Given the description of an element on the screen output the (x, y) to click on. 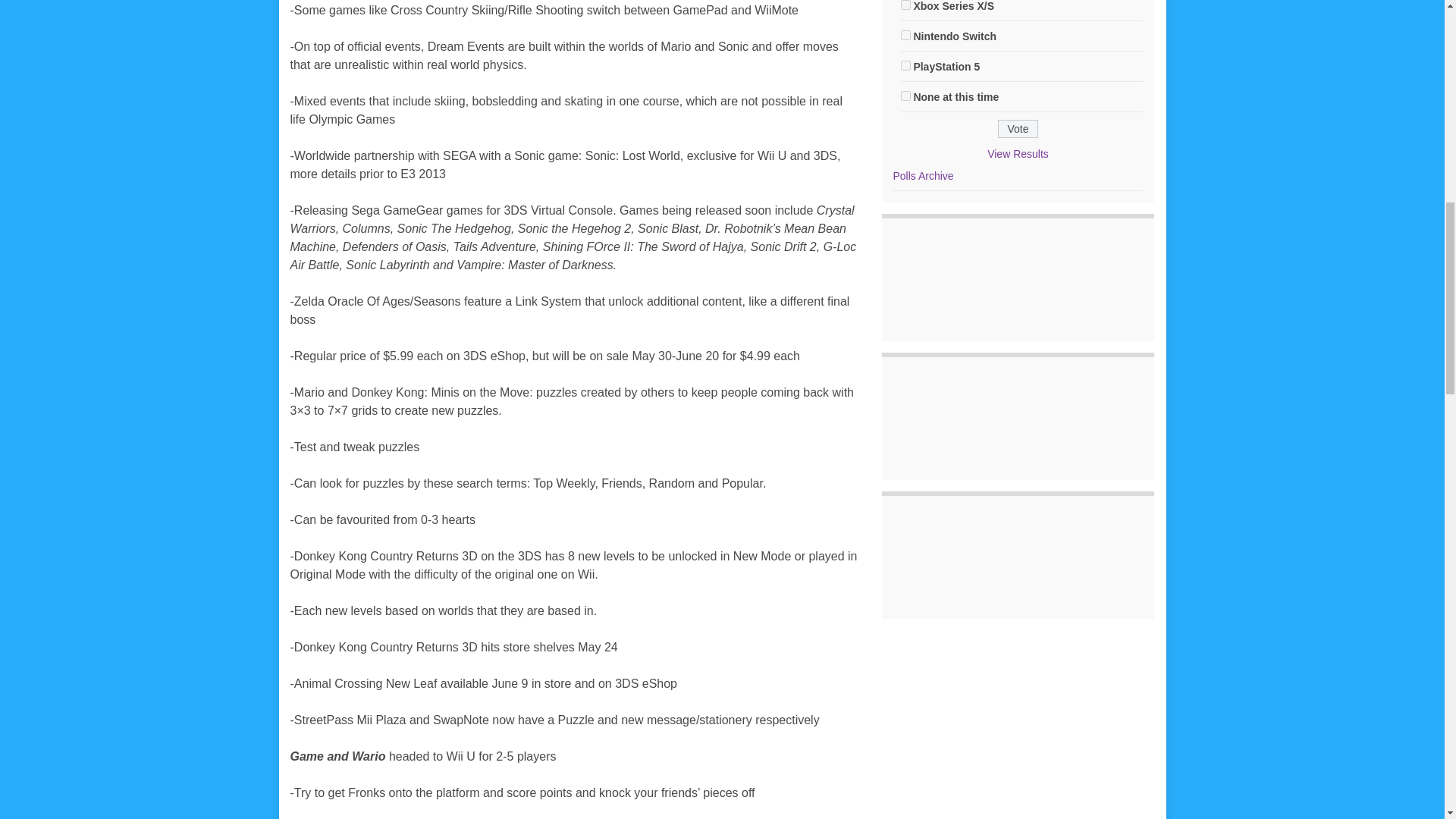
95 (906, 4)
98 (906, 95)
96 (906, 35)
97 (906, 65)
   Vote    (1017, 128)
View Results Of This Poll (1017, 153)
